Given the description of an element on the screen output the (x, y) to click on. 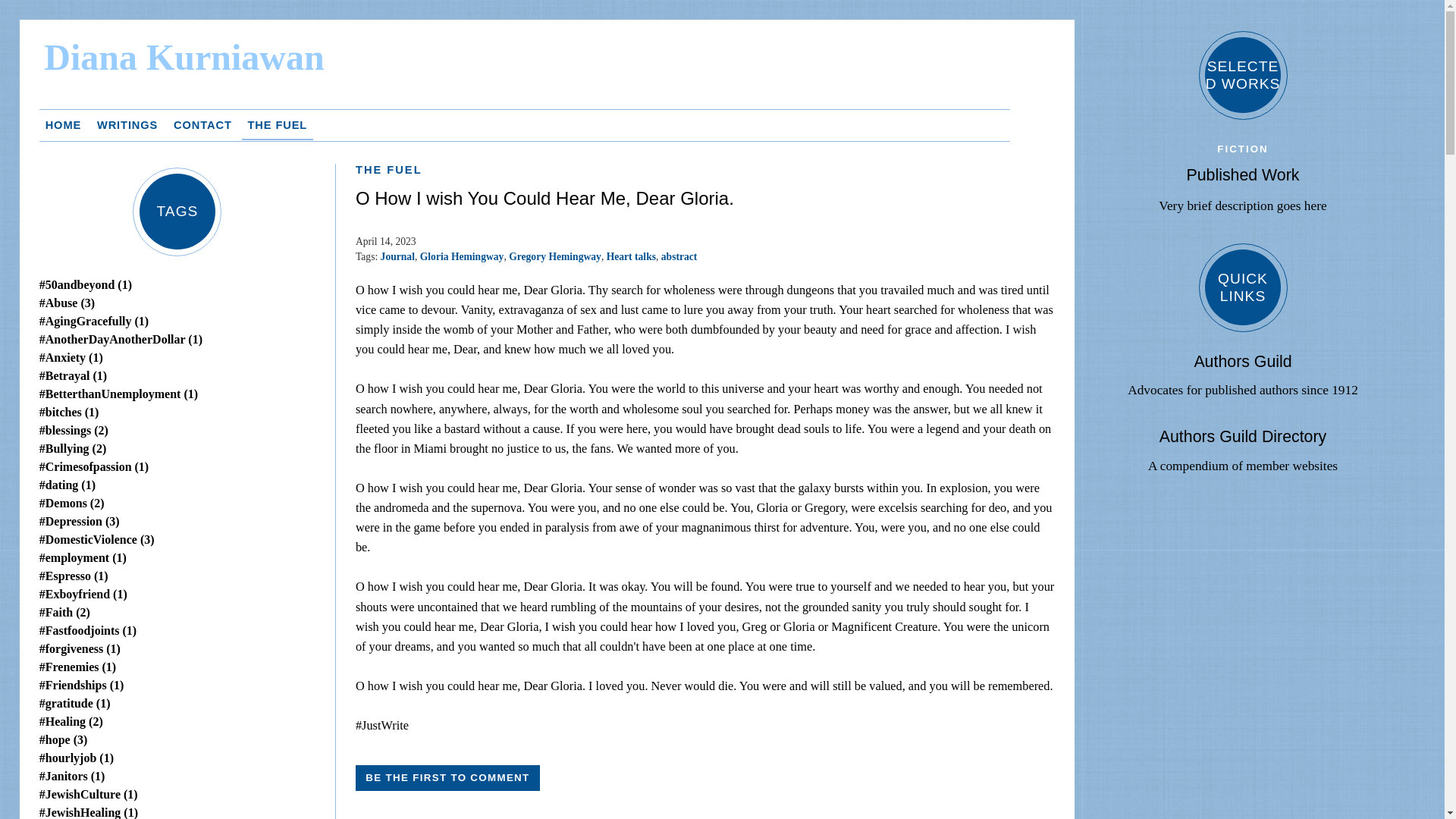
HOME (63, 124)
CONTACT (202, 124)
THE FUEL (277, 124)
Diana Kurniawan (548, 70)
WRITINGS (126, 124)
